Given the description of an element on the screen output the (x, y) to click on. 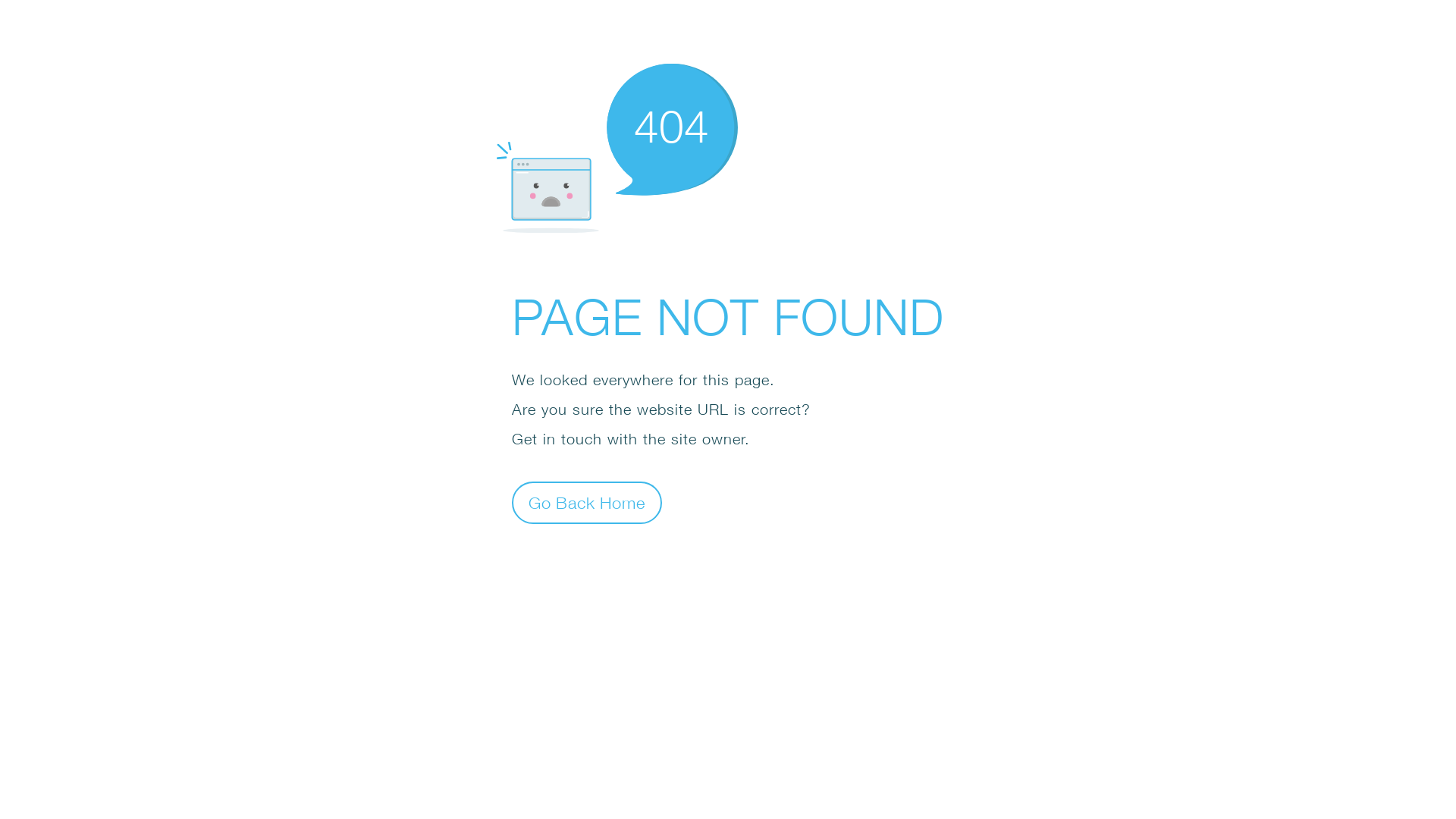
Go Back Home Element type: text (586, 502)
